Given the description of an element on the screen output the (x, y) to click on. 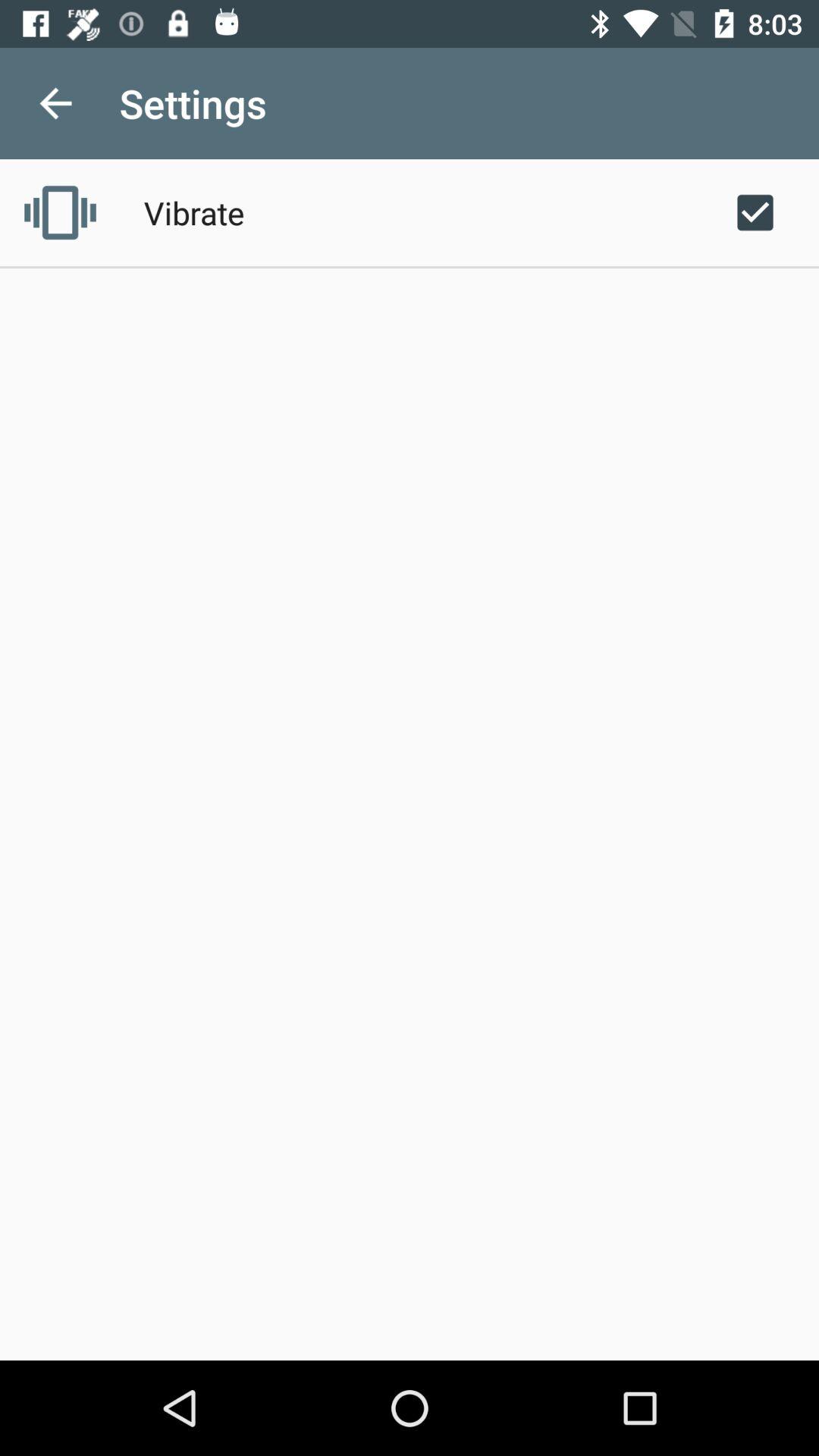
tap the icon next to the vibrate item (755, 212)
